Given the description of an element on the screen output the (x, y) to click on. 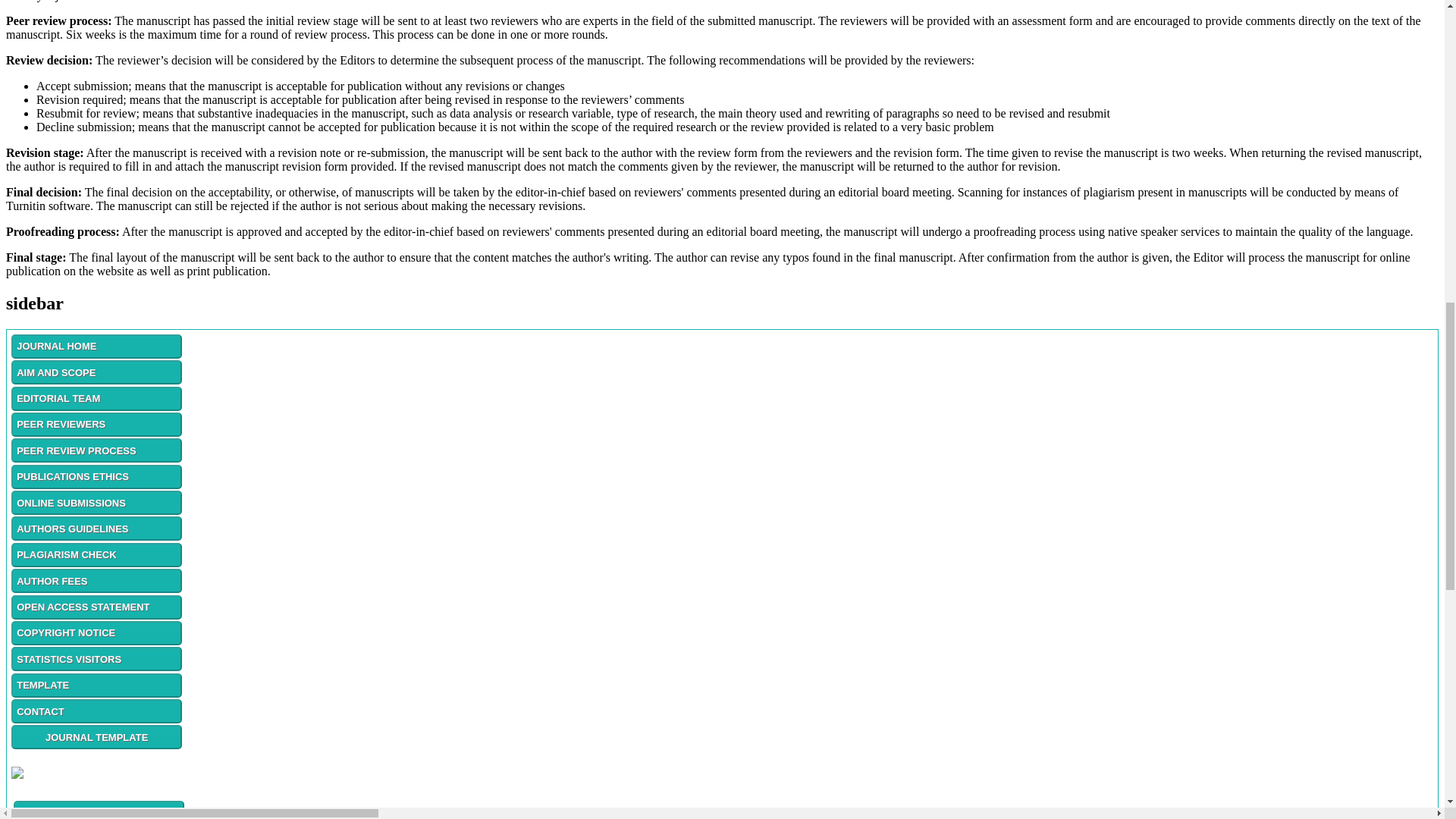
AIM AND SCOPE (96, 372)
AUTHORS GUIDELINES (96, 528)
PLAGIARISM CHECK (96, 553)
PUBLICATIONS ETHICS (96, 475)
ONLINE SUBMISSIONS (96, 502)
JOURNAL HOME (96, 345)
PEER REVIEWERS (96, 424)
AIM AND SCOPE (96, 371)
ONLINE SUBMISSIONS (96, 502)
PEER REVIEW PROCESS (96, 449)
JOURNAL HOME (96, 346)
EDITORIAL TEAM (96, 397)
EDITORIAL TEAM (96, 398)
PEER REVIEWERS (96, 422)
PUBLICATIONS ETHICS (96, 476)
